Given the description of an element on the screen output the (x, y) to click on. 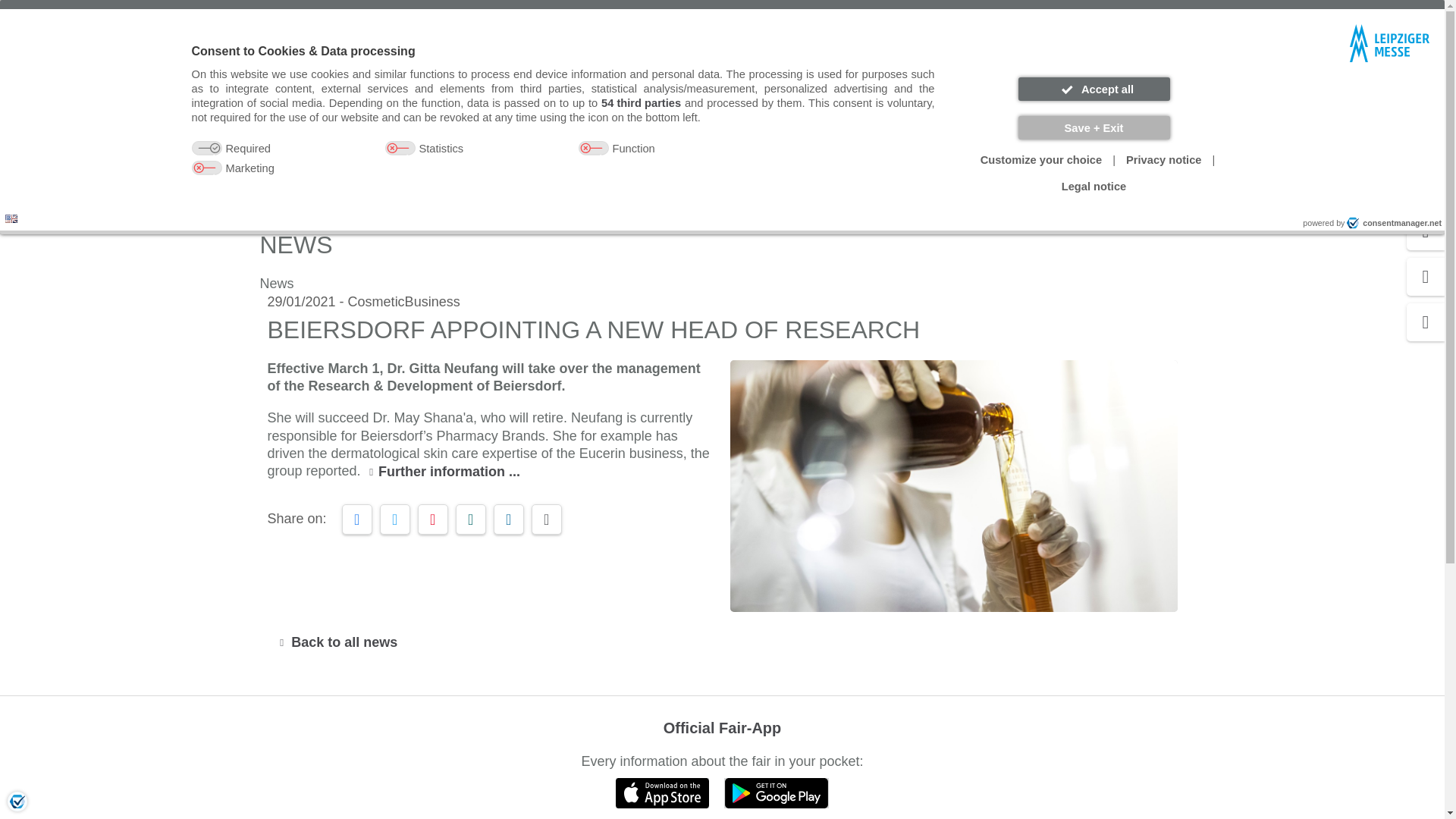
Privacy settings (17, 801)
Contact (945, 15)
Language: en (11, 218)
Search (854, 85)
App-Store (662, 793)
Enter search term (702, 85)
News (344, 199)
consentmanager.net (1393, 223)
Legal notice (1094, 186)
Partner (1004, 15)
